Given the description of an element on the screen output the (x, y) to click on. 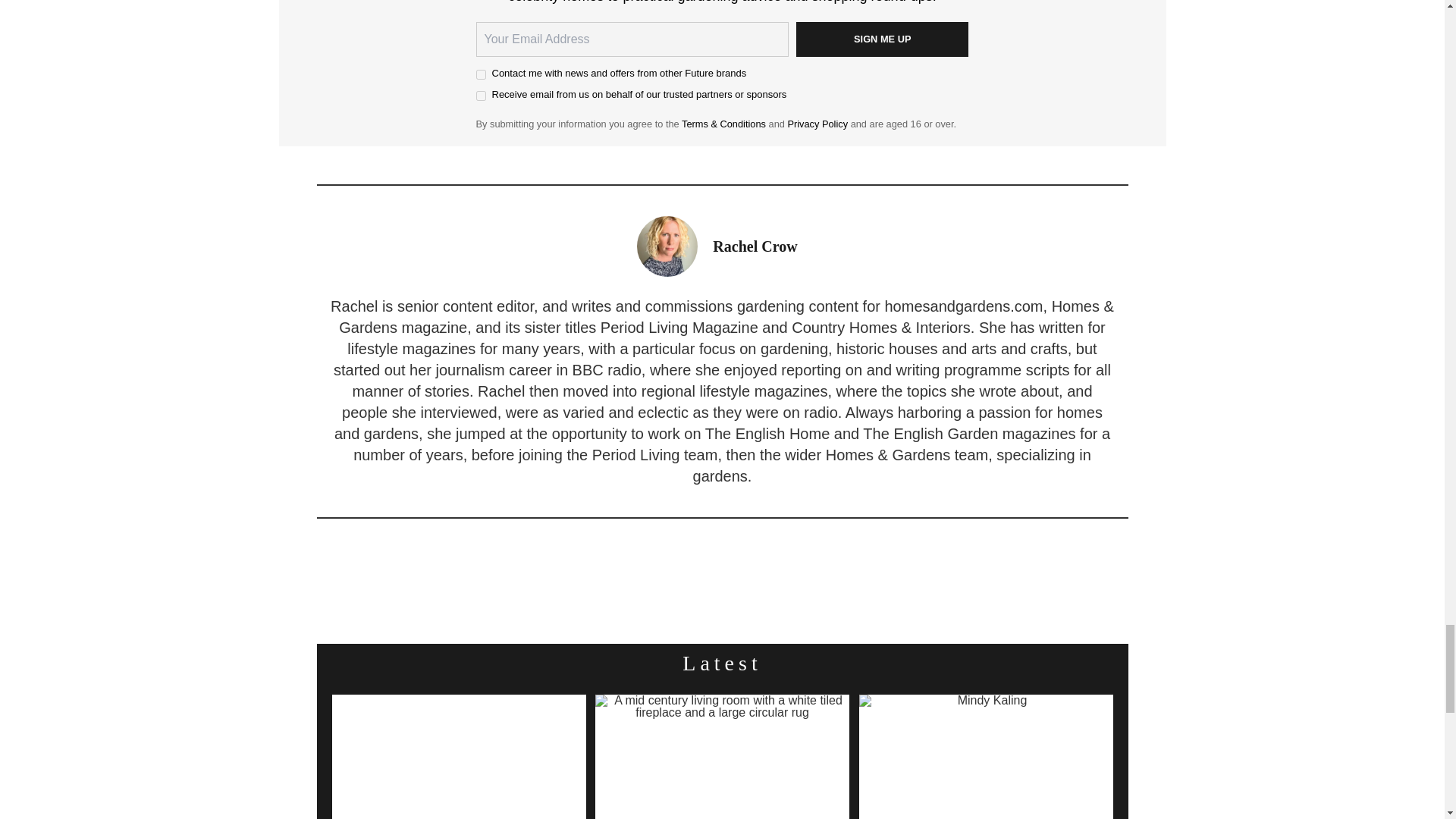
Sign me up (882, 39)
on (481, 74)
on (481, 95)
